Given the description of an element on the screen output the (x, y) to click on. 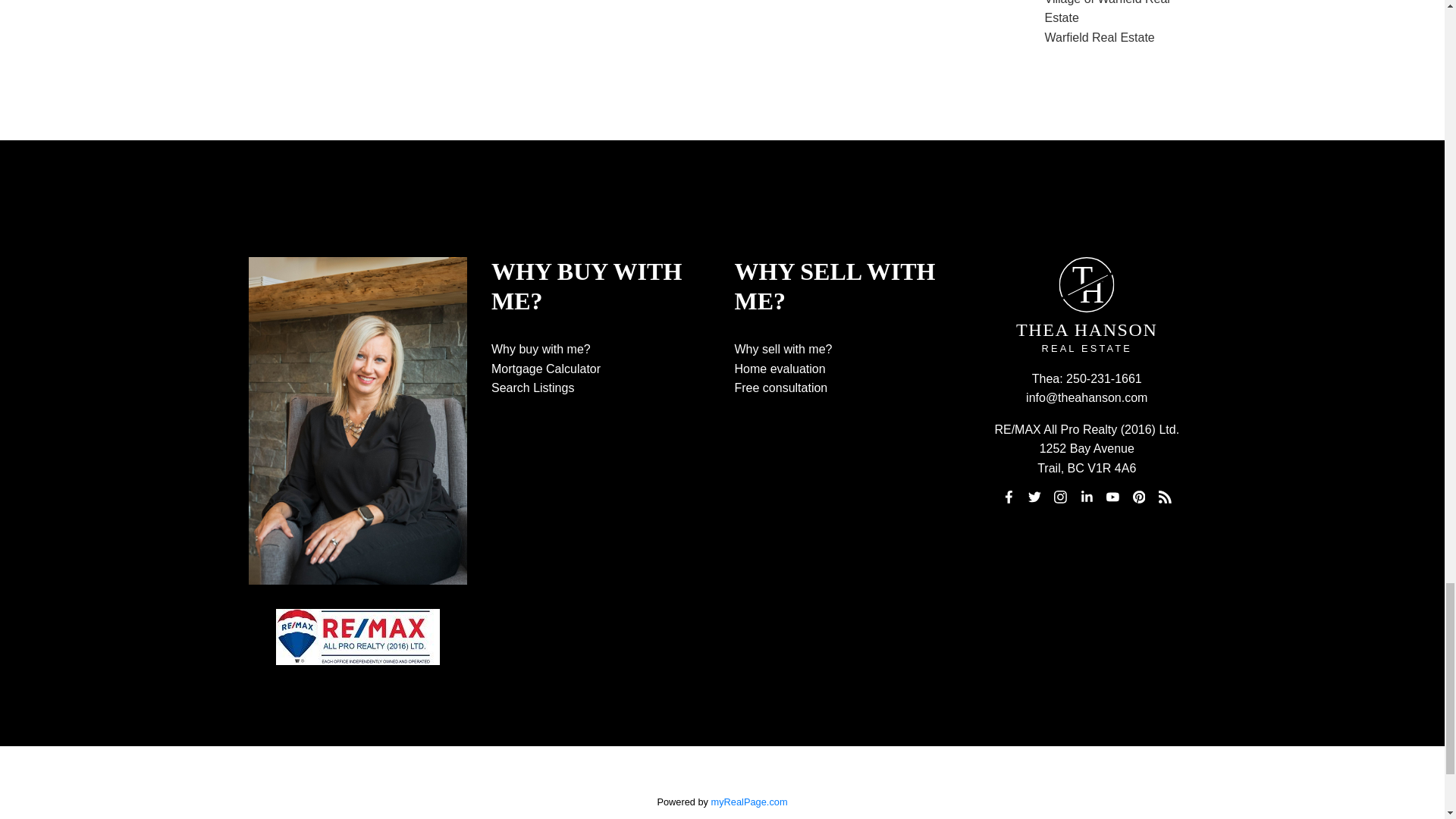
Pinterest (1139, 496)
Twitter (1034, 496)
YouTube (1113, 496)
linkedin (1086, 496)
Blog (1164, 496)
Facebook (1008, 496)
instagram (1060, 496)
